Given the description of an element on the screen output the (x, y) to click on. 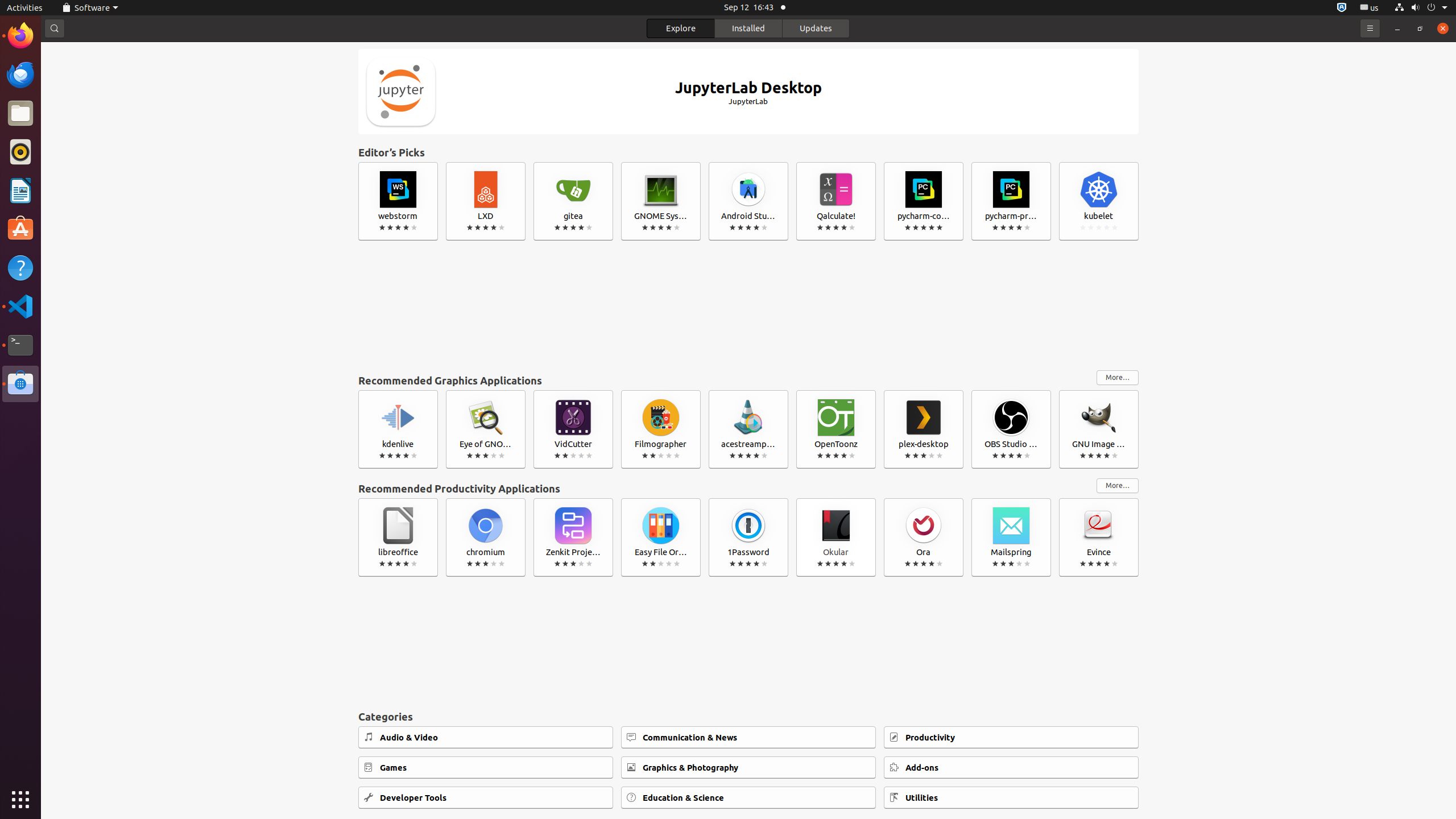
GNU Image Manipulation Program Element type: push-button (1098, 429)
Okular Element type: push-button (835, 537)
Ora Element type: push-button (923, 537)
